Given the description of an element on the screen output the (x, y) to click on. 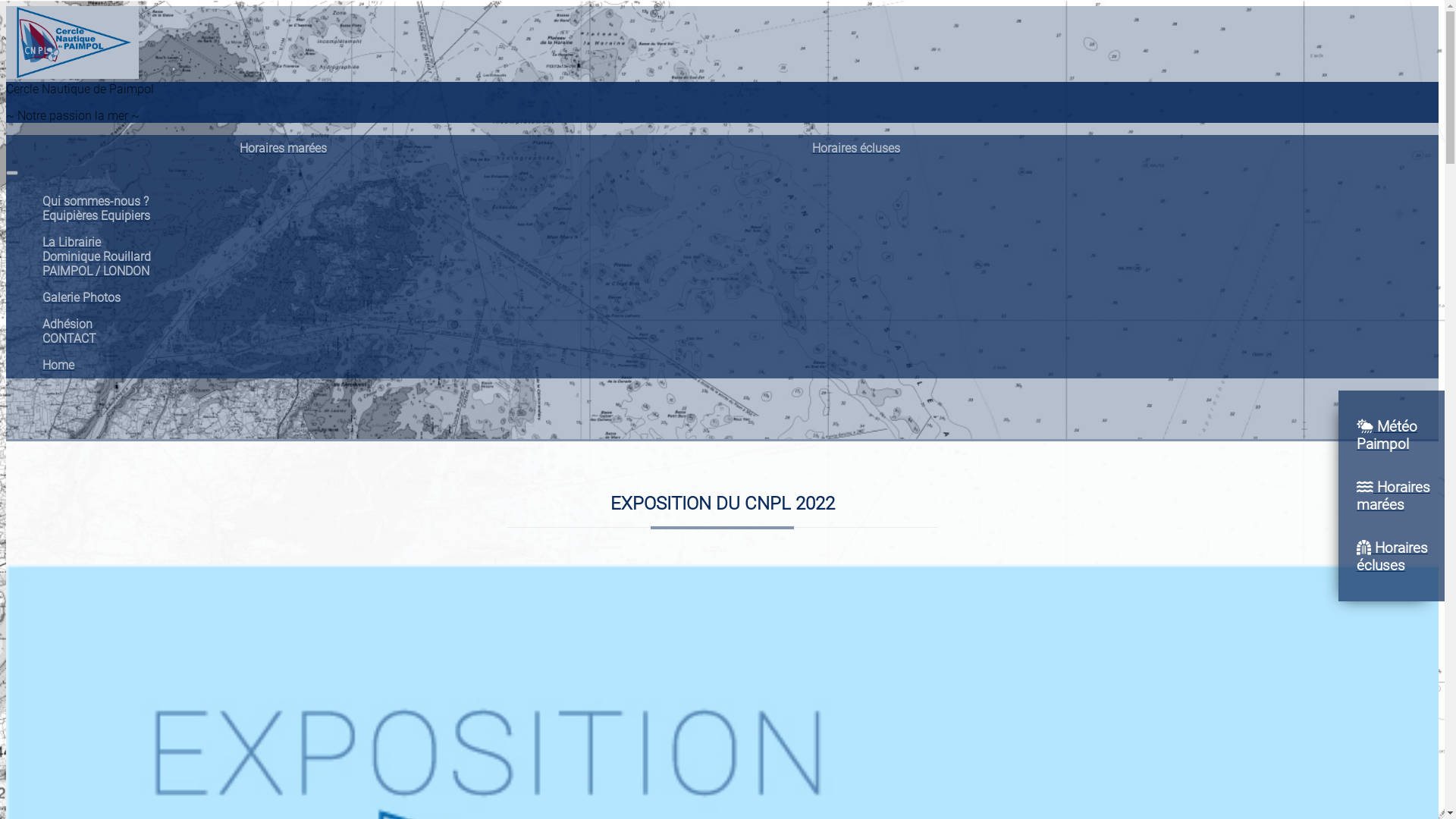
CONTACT Element type: text (69, 338)
Qui sommes-nous ? Element type: text (95, 201)
Dominique Rouillard Element type: text (96, 256)
La Librairie Element type: text (71, 242)
Galerie Photos Element type: text (81, 297)
Home Element type: text (58, 364)
PAIMPOL / LONDON Element type: text (95, 270)
